Given the description of an element on the screen output the (x, y) to click on. 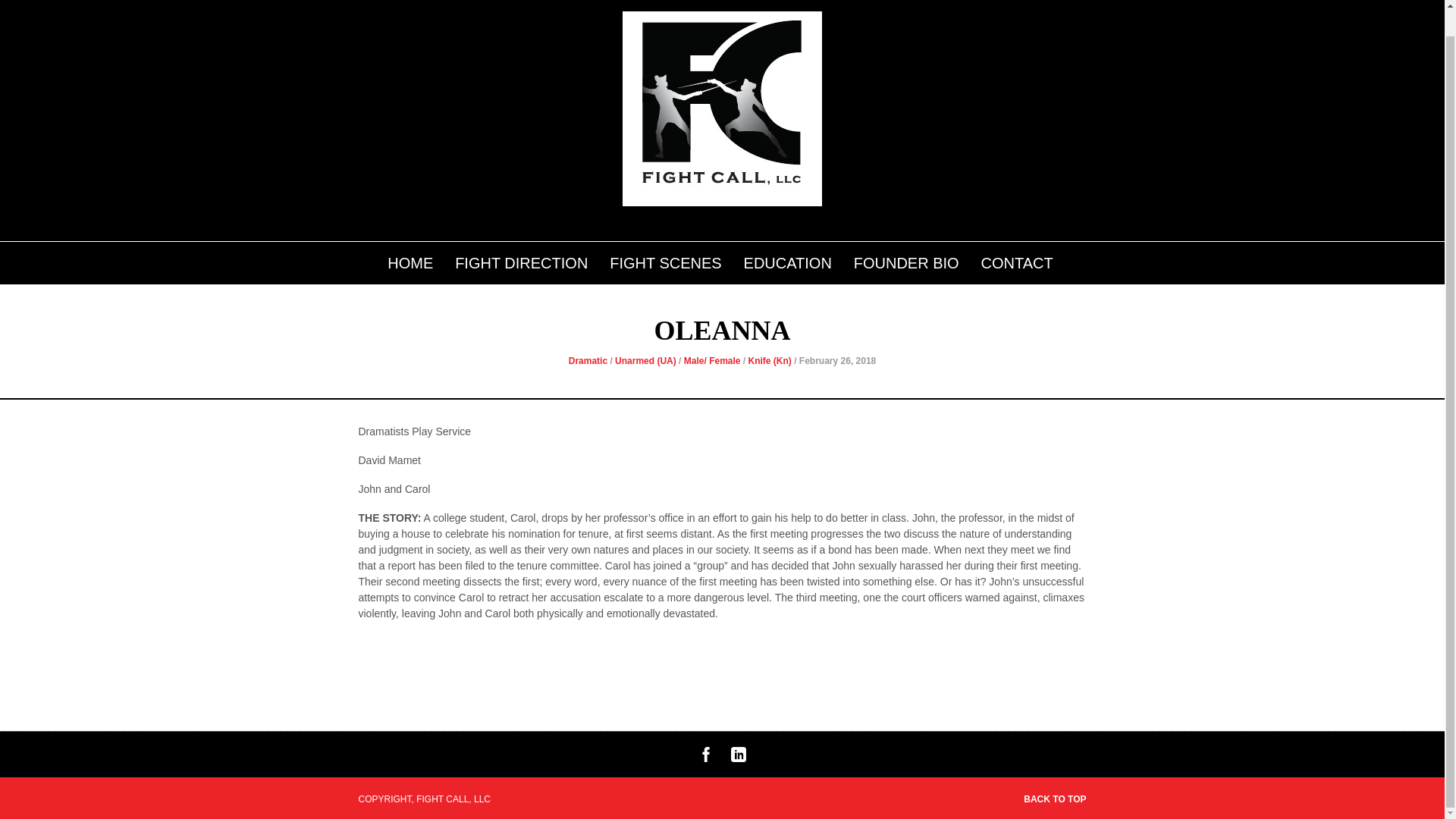
FOUNDER BIO (907, 260)
FIGHT SCENES (665, 260)
FIGHT DIRECTION (521, 260)
Linkedin (737, 758)
BACK TO TOP (1054, 798)
EDUCATION (787, 260)
CONTACT (1016, 260)
HOME (409, 260)
Dramatic (588, 360)
